Given the description of an element on the screen output the (x, y) to click on. 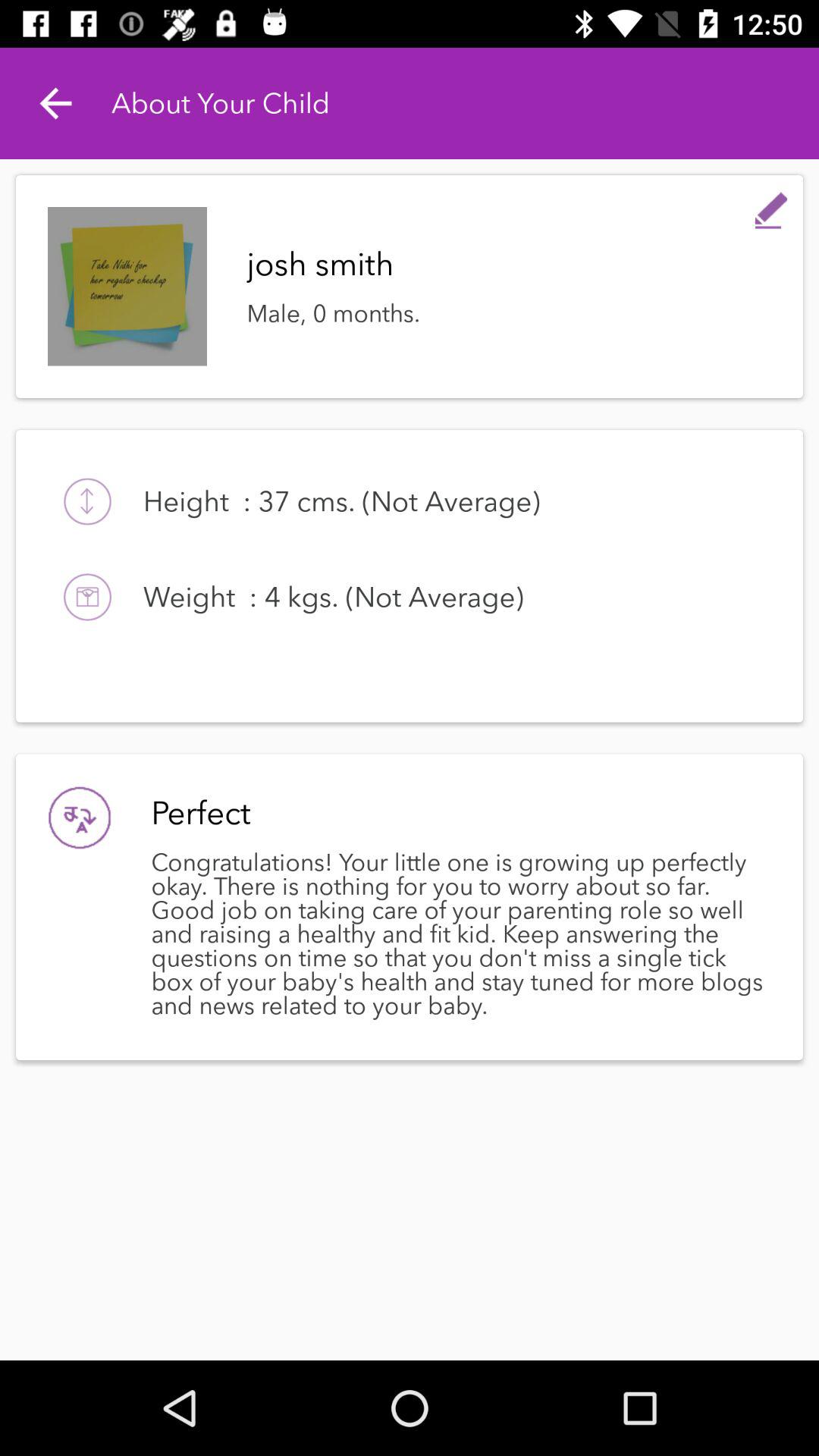
open item above the congratulations your little (457, 813)
